Given the description of an element on the screen output the (x, y) to click on. 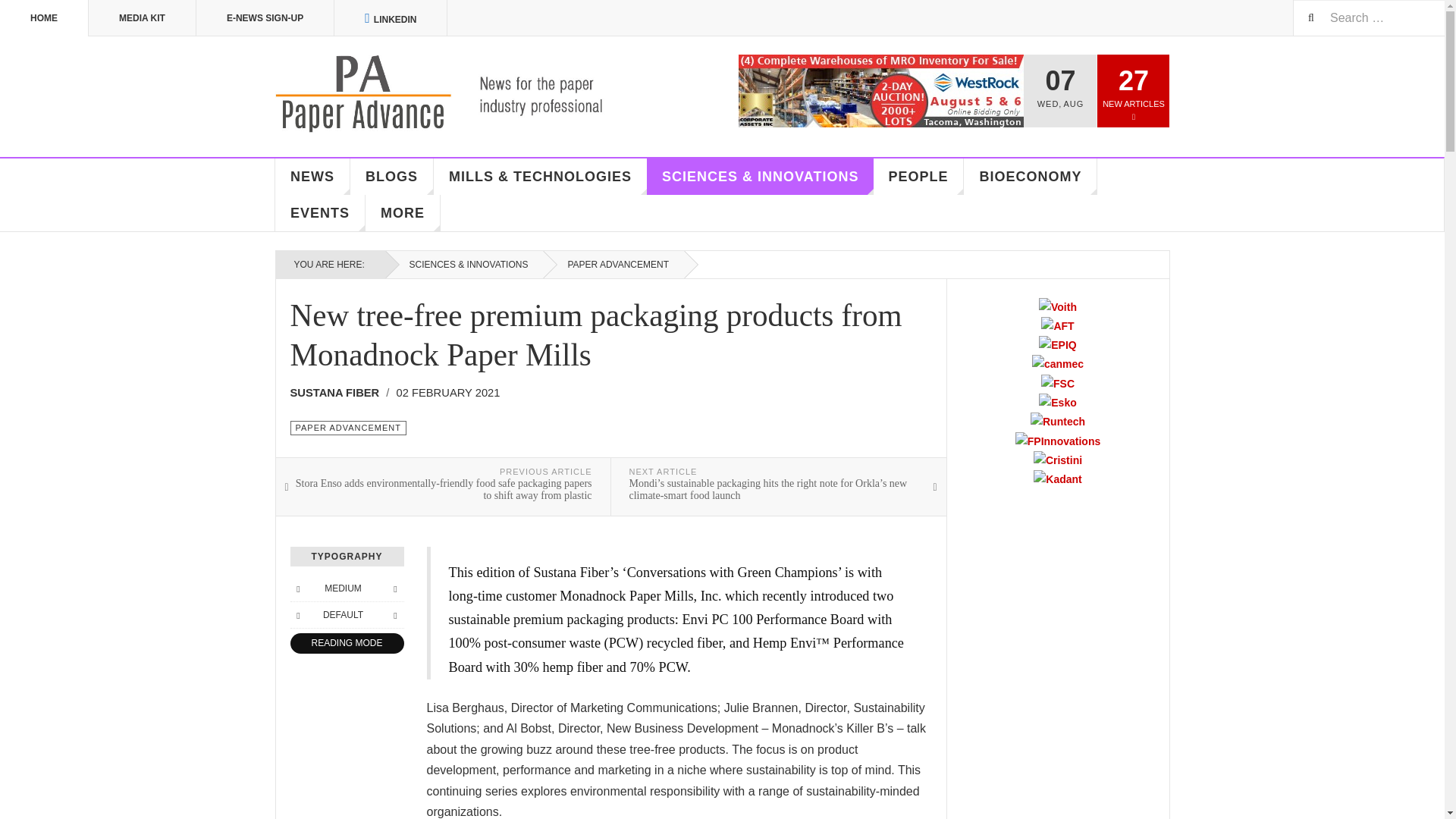
NEWS (312, 176)
Paper Advance (461, 93)
LINKEDIN (390, 18)
HOME (44, 18)
MEDIA KIT (142, 18)
E-NEWS SIGN-UP (265, 18)
